Given the description of an element on the screen output the (x, y) to click on. 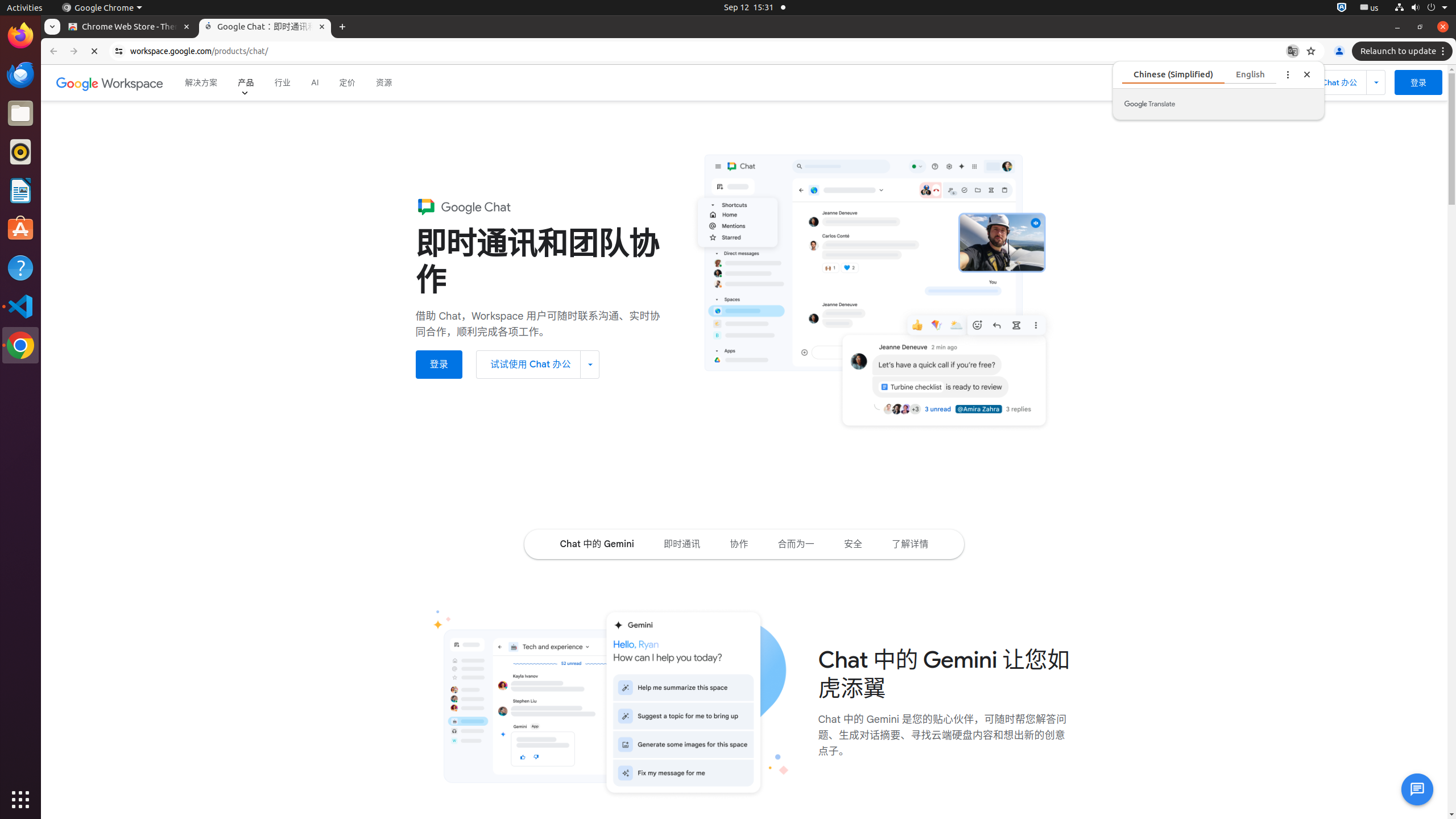
Google Chrome Element type: menu (101, 7)
产品 Element type: push-button (245, 82)
View site information Element type: push-button (118, 51)
:1.72/StatusNotifierItem Element type: menu (1341, 7)
行业 Element type: push-button (282, 82)
